Given the description of an element on the screen output the (x, y) to click on. 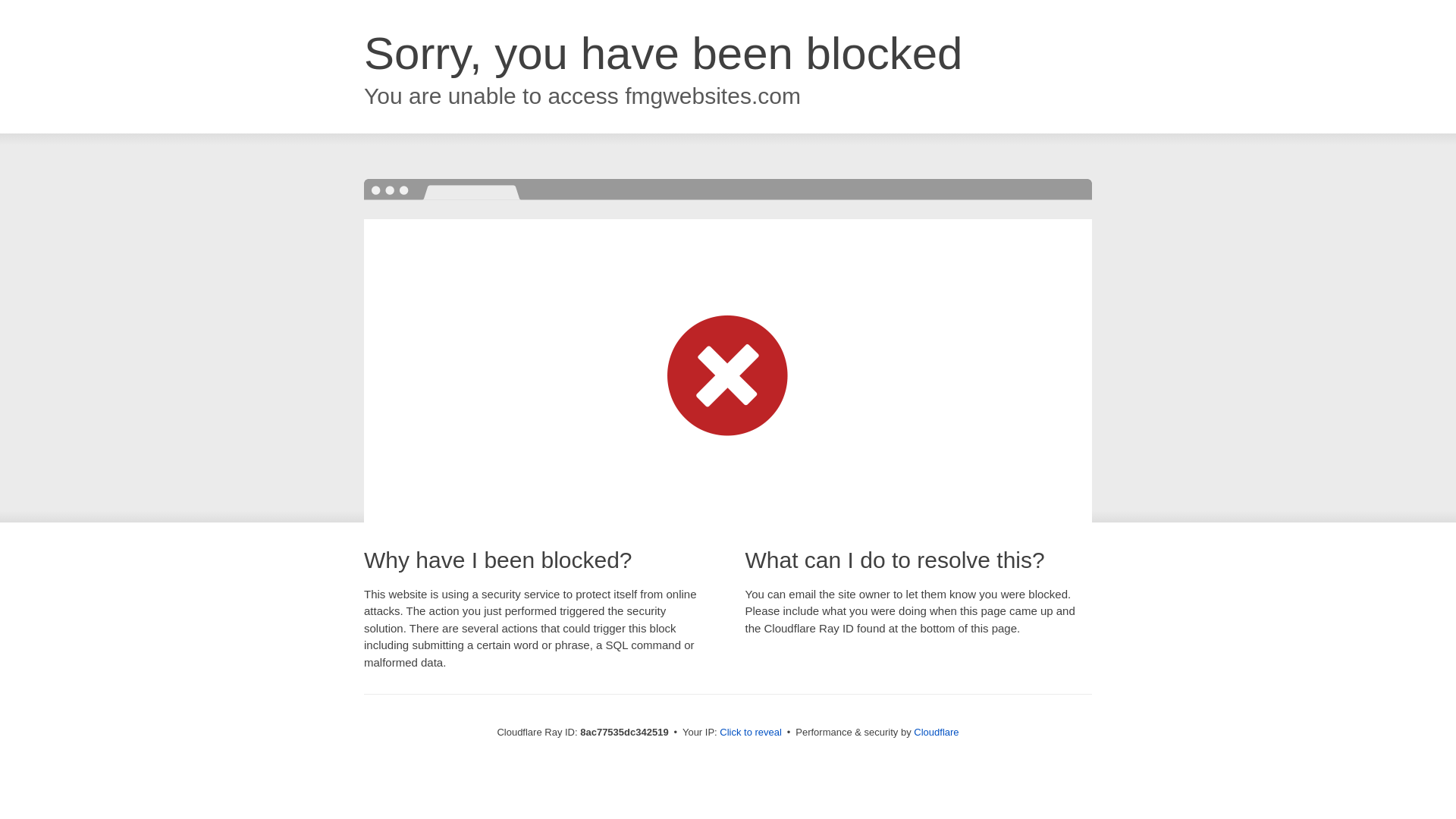
Click to reveal (750, 732)
Cloudflare (936, 731)
